Given the description of an element on the screen output the (x, y) to click on. 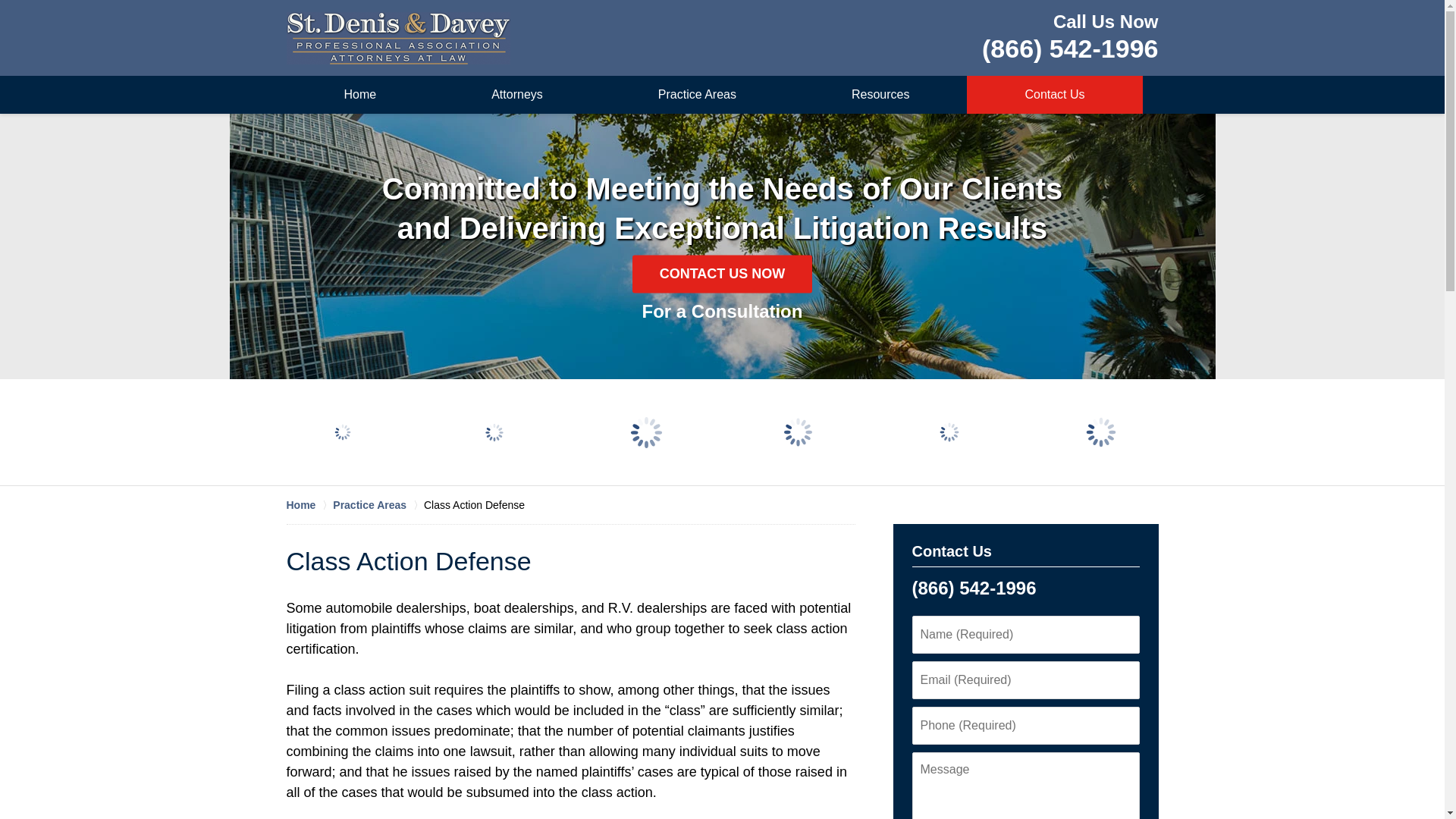
Contact Us (951, 550)
Home (359, 94)
Practice Areas (378, 505)
Resources (879, 94)
Practice Areas (696, 94)
Attorneys (516, 94)
CONTACT US NOW (721, 273)
Back to Home (398, 38)
Home (309, 505)
Contact Us (1053, 94)
